Given the description of an element on the screen output the (x, y) to click on. 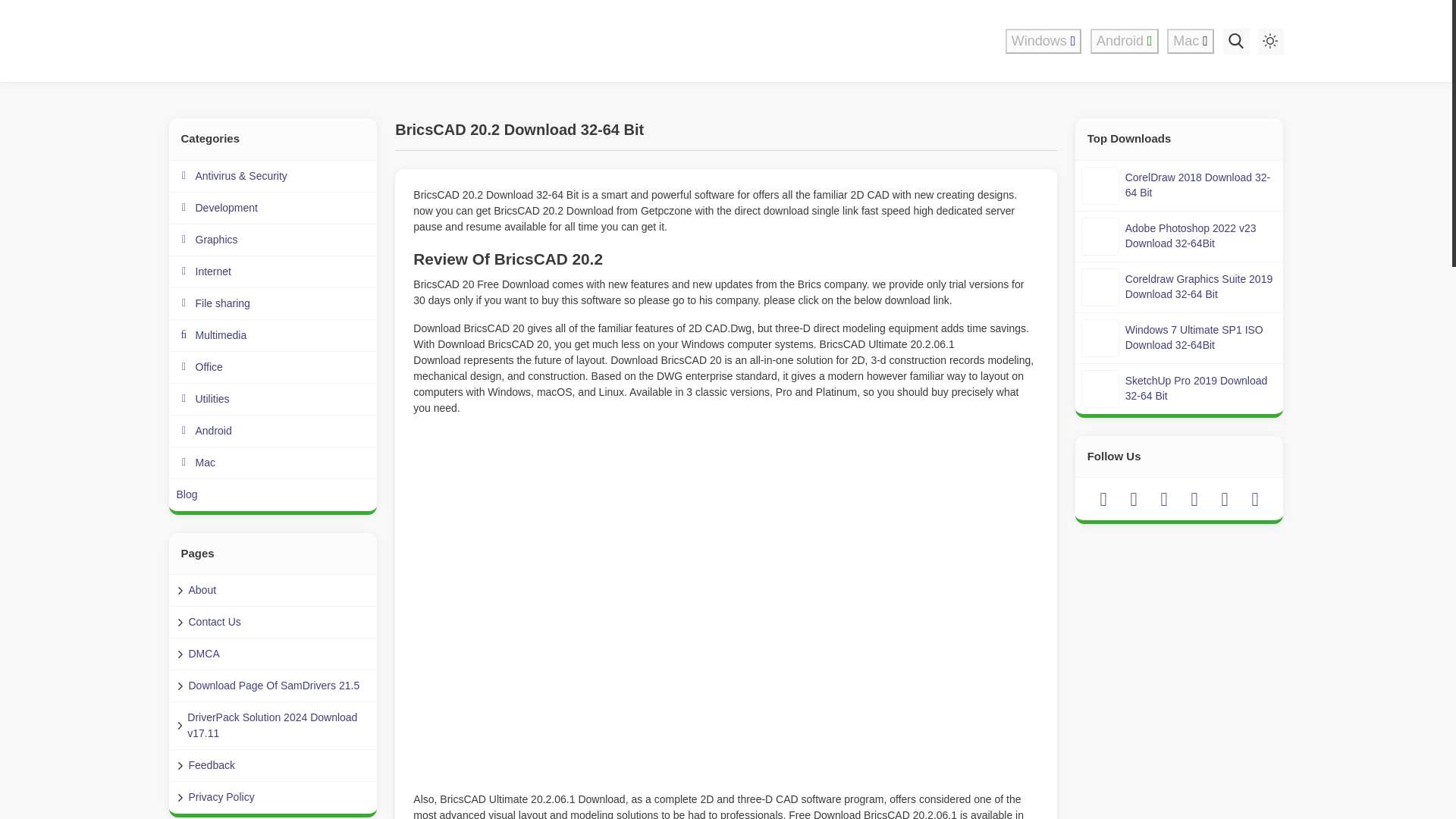
Multimedia (272, 336)
Getpczone (268, 40)
Mac (1190, 41)
Windows (1043, 41)
Android (1124, 41)
Office (272, 368)
Internet (272, 272)
File sharing (272, 304)
Development (272, 208)
Graphics (272, 240)
